Given the description of an element on the screen output the (x, y) to click on. 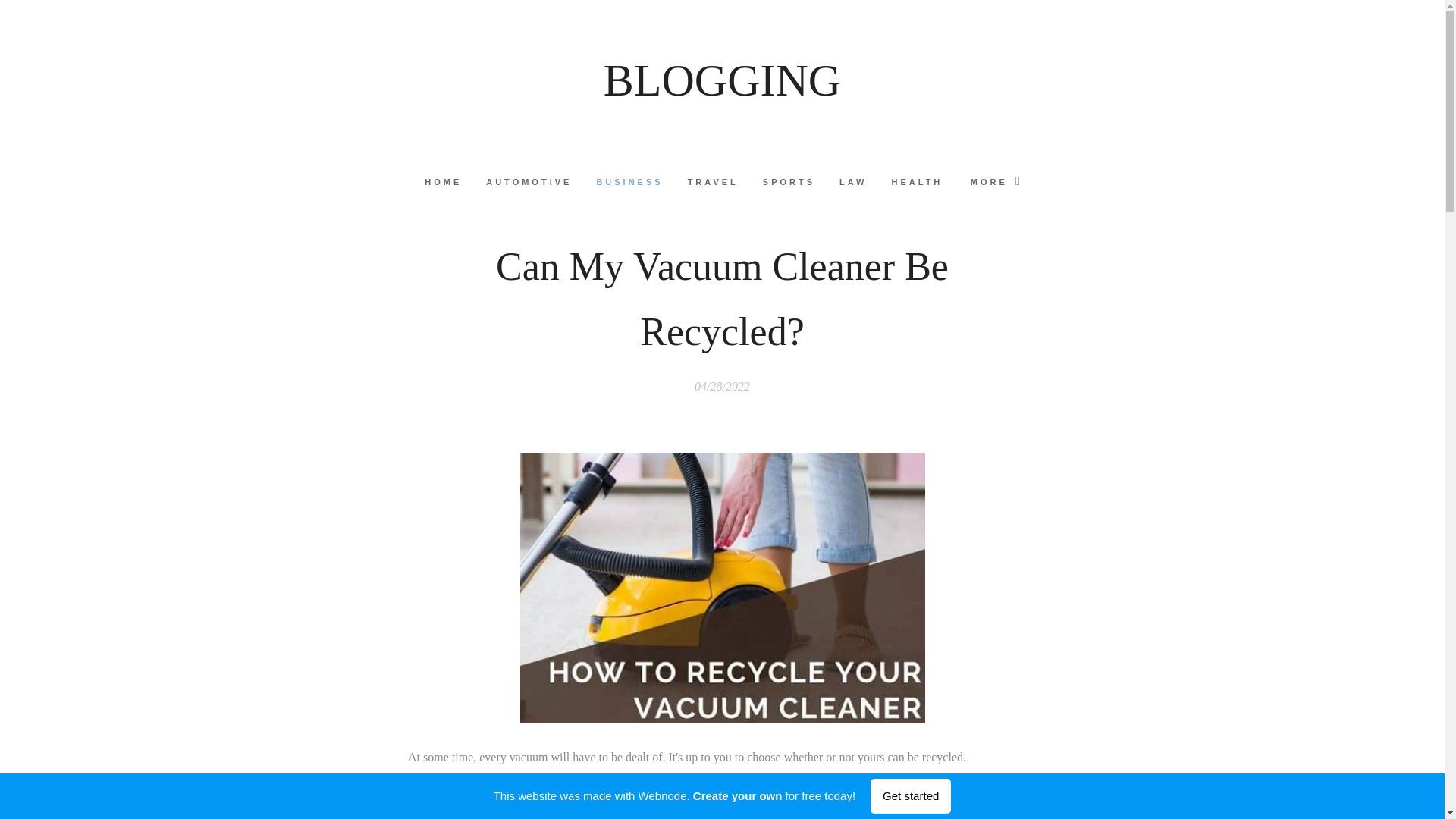
TRAVEL (713, 181)
HOME (449, 181)
LAW (853, 181)
MORE (989, 181)
HEALTH (917, 181)
BUSINESS (629, 181)
BLOGGING (721, 80)
SPORTS (789, 181)
AUTOMOTIVE (528, 181)
